Given the description of an element on the screen output the (x, y) to click on. 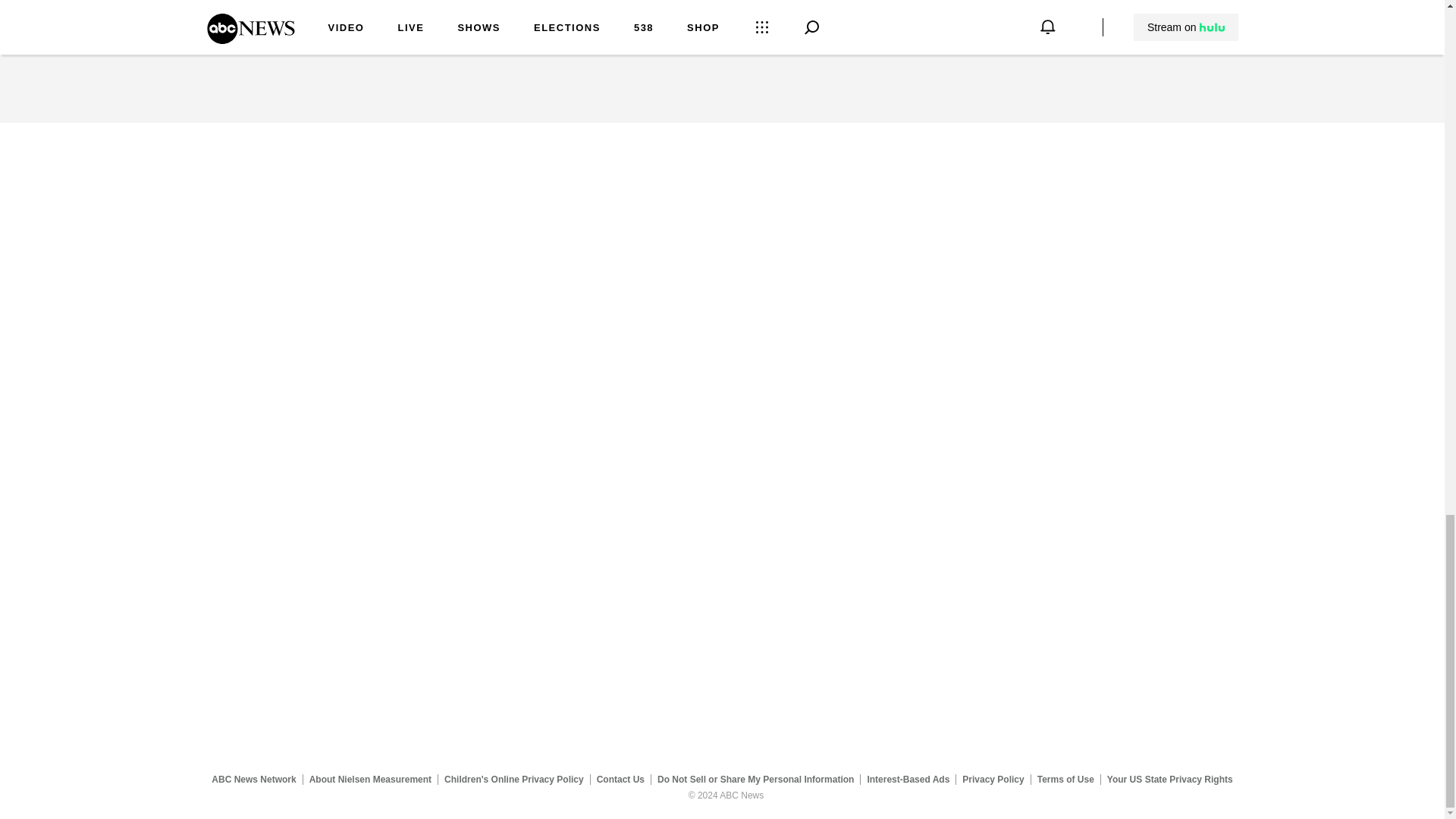
Terms of Use (1065, 778)
Interest-Based Ads (908, 778)
Your US State Privacy Rights (1169, 778)
Do Not Sell or Share My Personal Information (755, 778)
Contact Us (620, 778)
Privacy Policy (993, 778)
About Nielsen Measurement (370, 778)
ABC News Network (253, 778)
Children's Online Privacy Policy (514, 778)
